Given the description of an element on the screen output the (x, y) to click on. 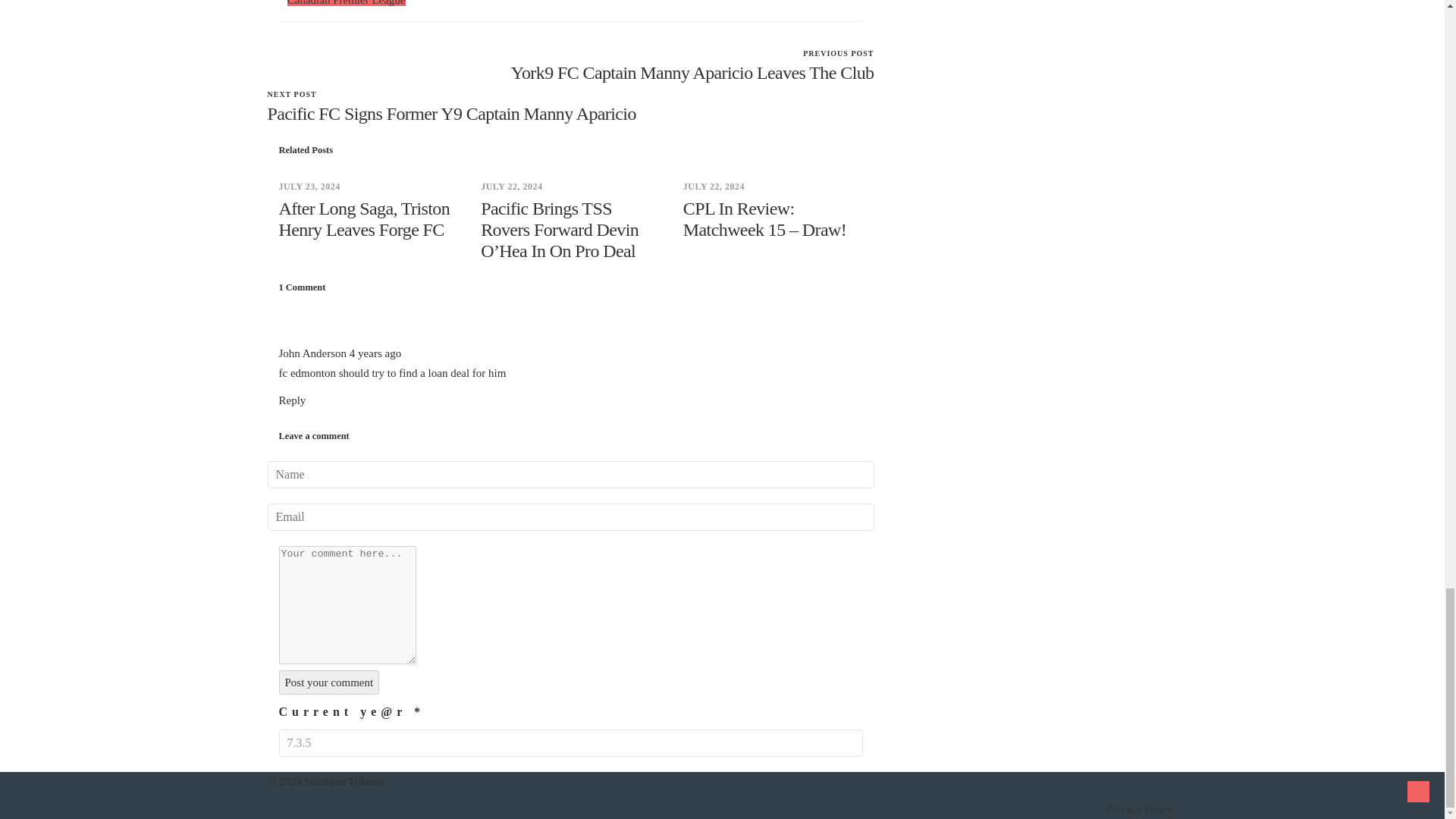
7.3.5 (571, 742)
John Anderson (313, 353)
Canadian Premier League (346, 2)
After Long Saga, Triston Henry Leaves Forge FC (364, 219)
